Given the description of an element on the screen output the (x, y) to click on. 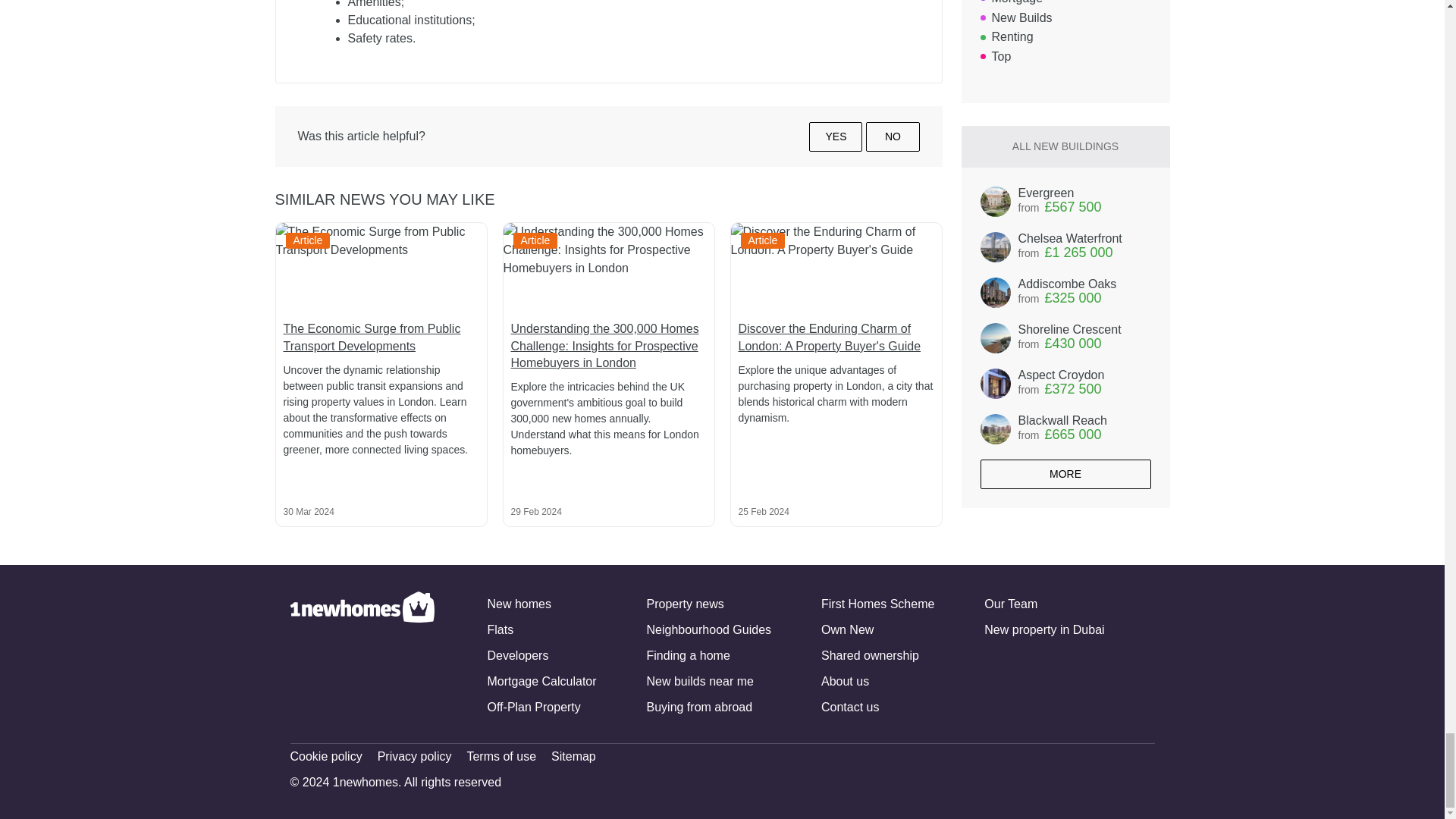
Property news (684, 604)
1newhomes.com (361, 655)
New homes (518, 604)
Developers (517, 655)
Off-Plan Property (532, 707)
Mortgage Calculator (540, 681)
Flats (499, 629)
